Given the description of an element on the screen output the (x, y) to click on. 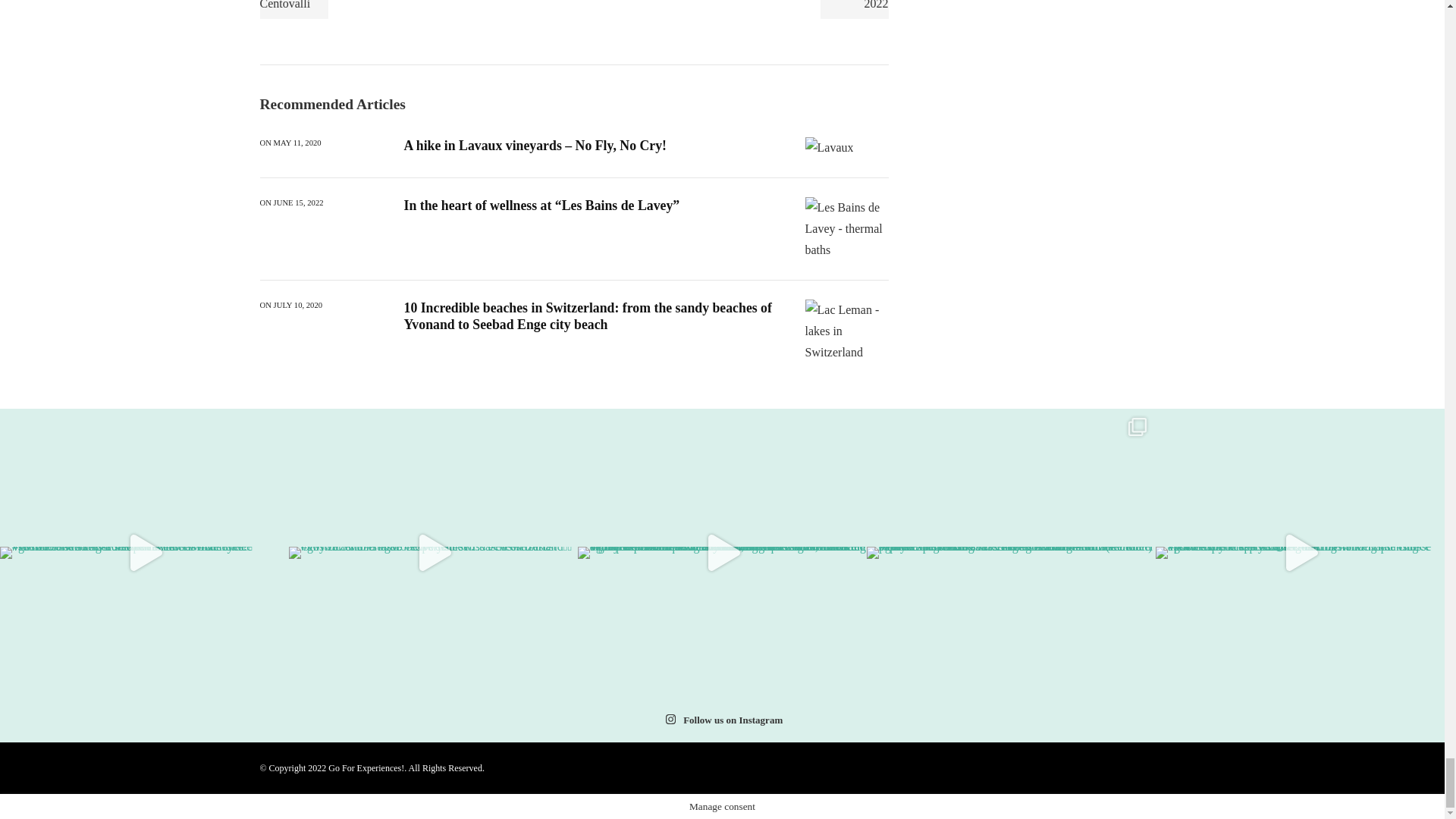
MAY 11, 2020 (297, 143)
JUNE 15, 2022 (298, 203)
JULY 10, 2020 (298, 305)
